Given the description of an element on the screen output the (x, y) to click on. 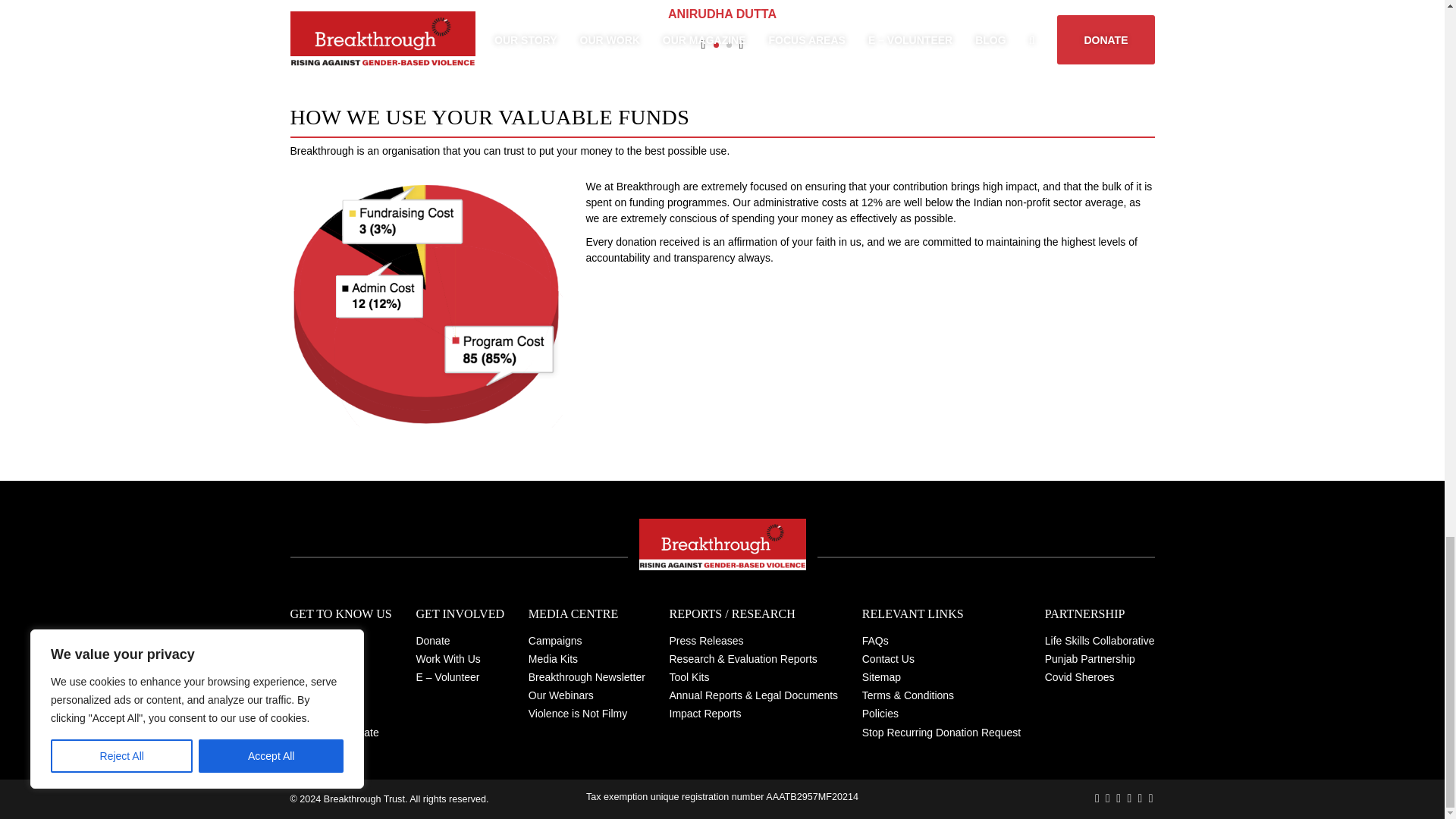
GET TO KNOW US (340, 613)
Our Story (340, 640)
